Given the description of an element on the screen output the (x, y) to click on. 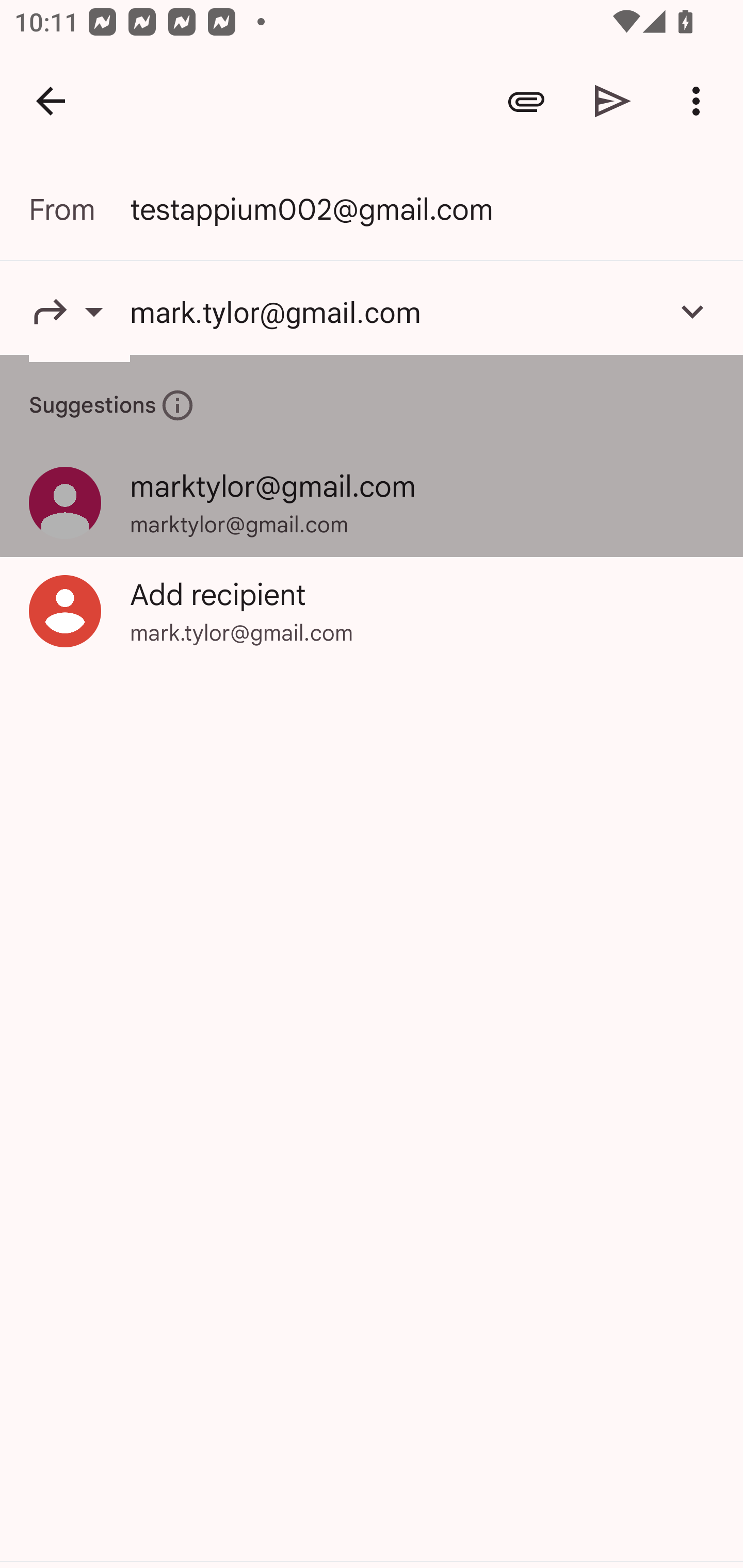
Navigate up (50, 101)
Attach file (525, 101)
Send (612, 101)
More options (699, 101)
From (79, 209)
Forward (79, 311)
Add Cc/Bcc (692, 311)
mark.tylor@gmail.com (393, 311)
Add recipient mark.tylor@gmail.com (371, 610)
